Given the description of an element on the screen output the (x, y) to click on. 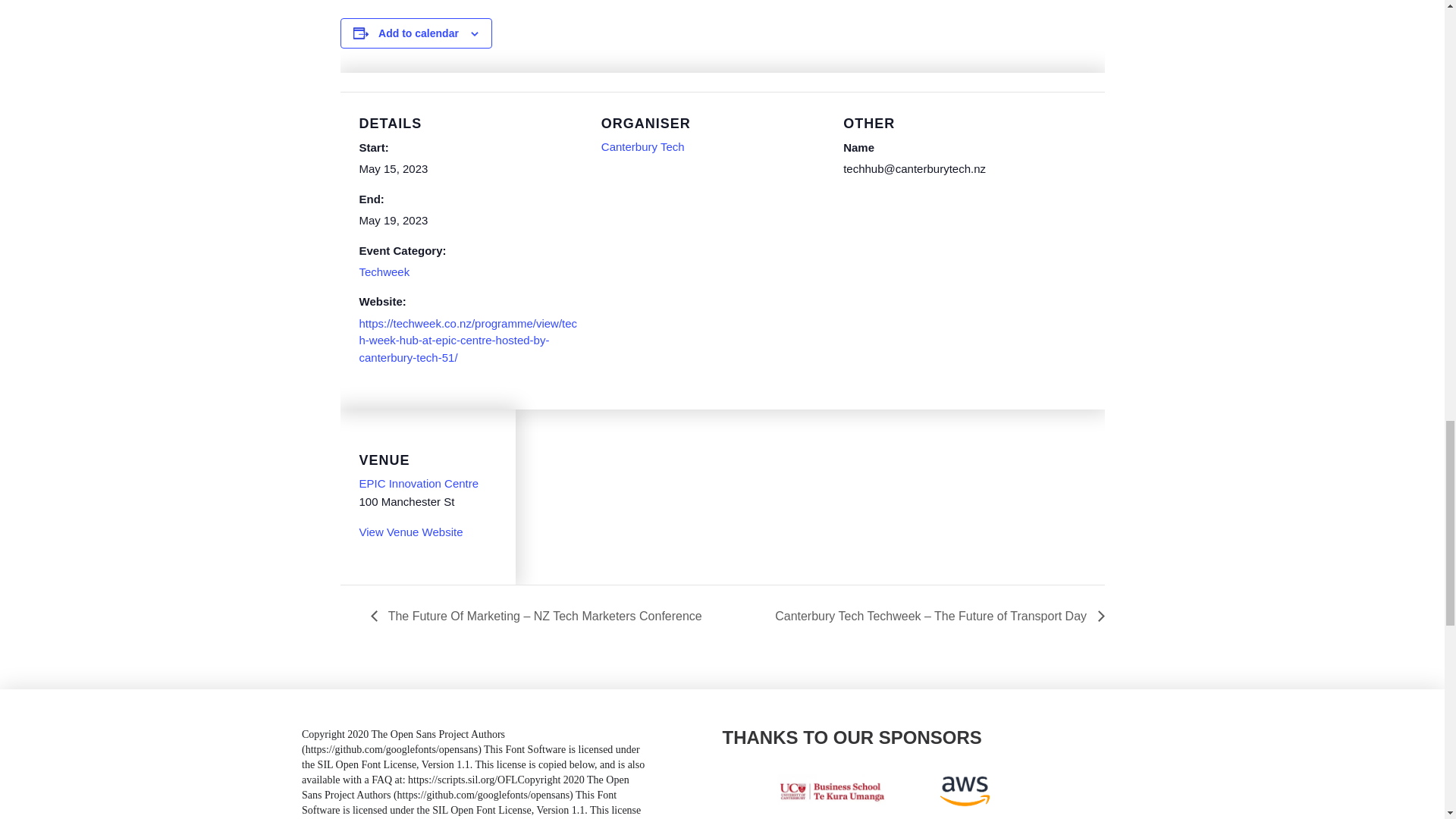
Web Forms (475, 773)
2023-05-19 (393, 219)
Canterbury Tech (642, 146)
Add to calendar (418, 33)
2023-05-15 (393, 168)
